Given the description of an element on the screen output the (x, y) to click on. 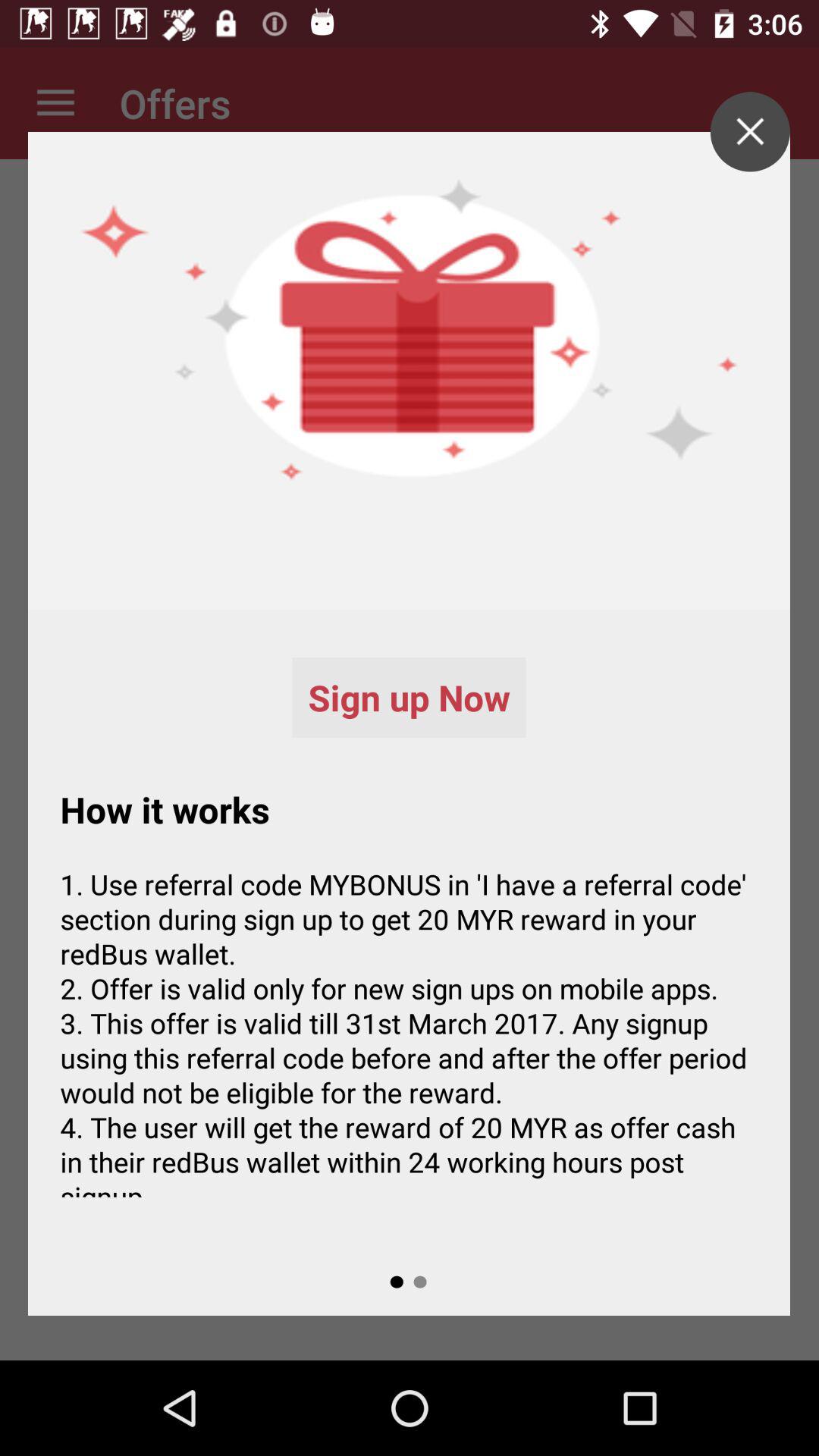
close page (749, 131)
